Given the description of an element on the screen output the (x, y) to click on. 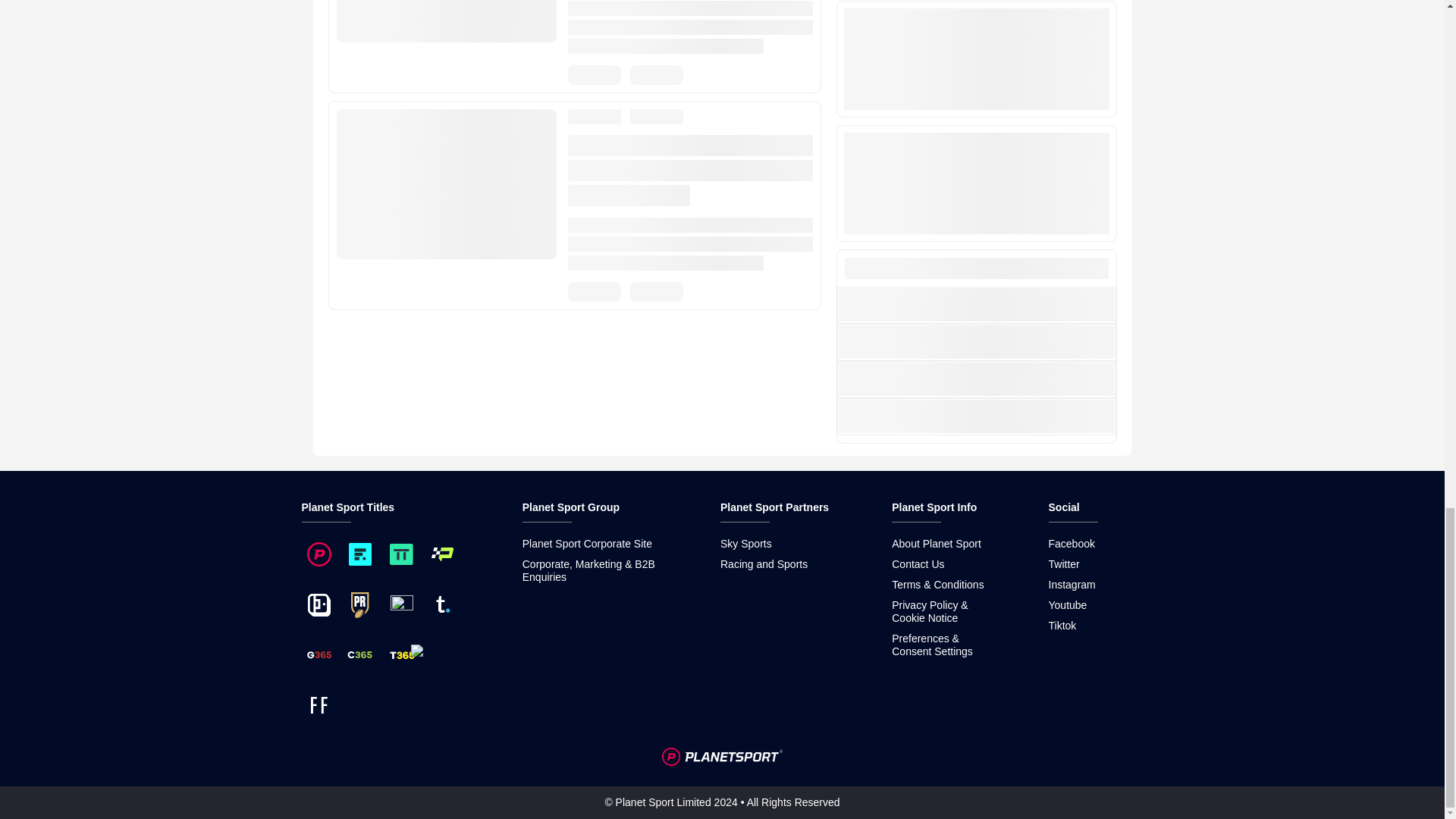
About Planet Sport (936, 543)
